Given the description of an element on the screen output the (x, y) to click on. 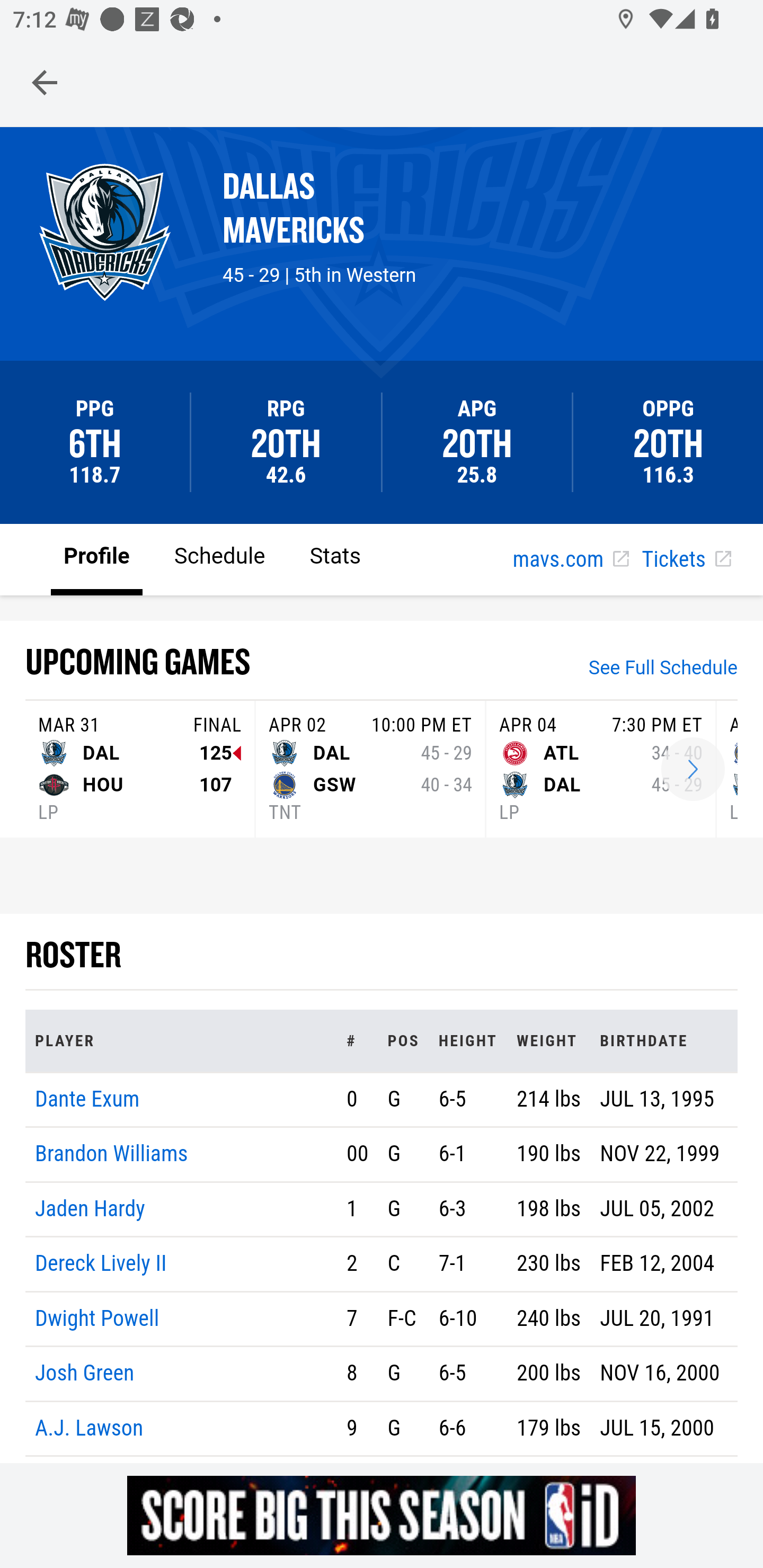
Navigate up (44, 82)
Profile (97, 558)
Schedule (219, 558)
Stats (335, 558)
mavs.com (570, 560)
Tickets (685, 560)
See Full Schedule (662, 669)
Match-up Scores (692, 769)
Dante Exum (87, 1098)
Brandon Williams (112, 1154)
Jaden Hardy (90, 1207)
Dereck Lively II (101, 1264)
Dwight Powell (97, 1317)
Josh Green (85, 1374)
A.J. Lawson (89, 1427)
g5nqqygr7owph (381, 1515)
